Given the description of an element on the screen output the (x, y) to click on. 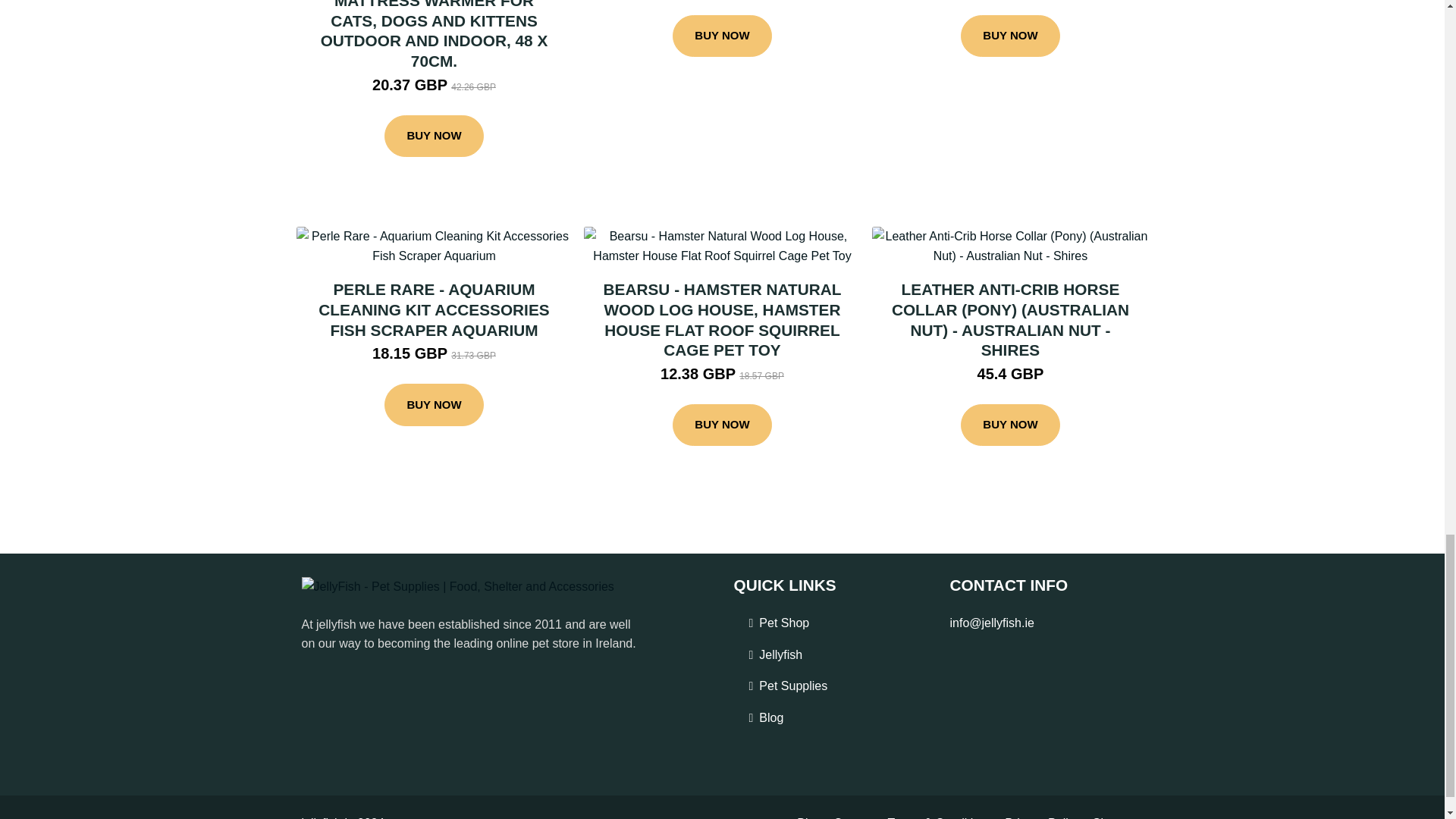
BUY NOW (721, 36)
BUY NOW (433, 136)
